Given the description of an element on the screen output the (x, y) to click on. 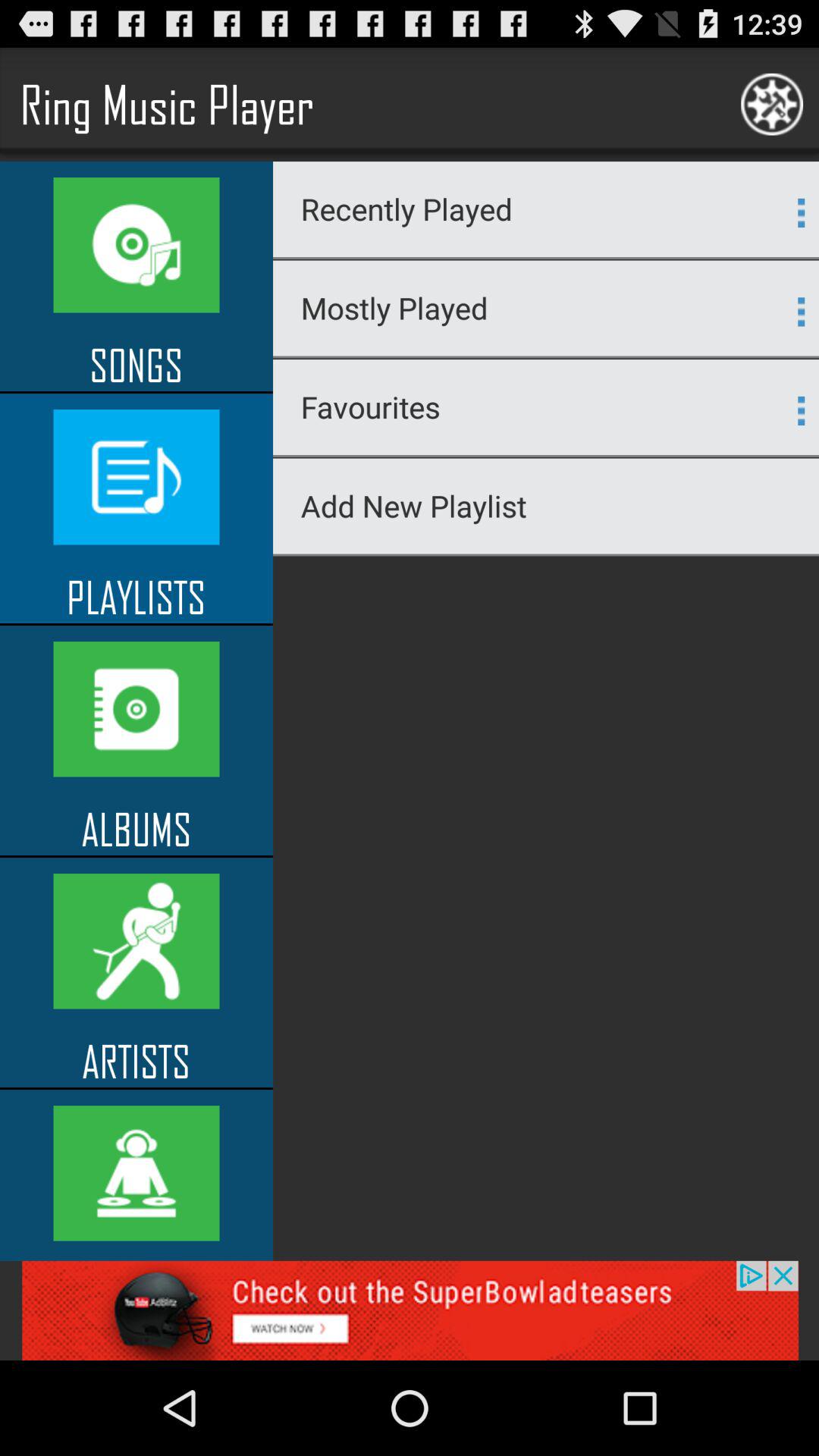
select the 2nd three dots button on the right side of the web page (800, 311)
click on image under artists (137, 1173)
click on the image under songs (137, 476)
click on button which is on right side of favourites (800, 410)
select the icon above the button songs on the web page (137, 245)
select the logo on the top right corner of the web page (771, 104)
